Given the description of an element on the screen output the (x, y) to click on. 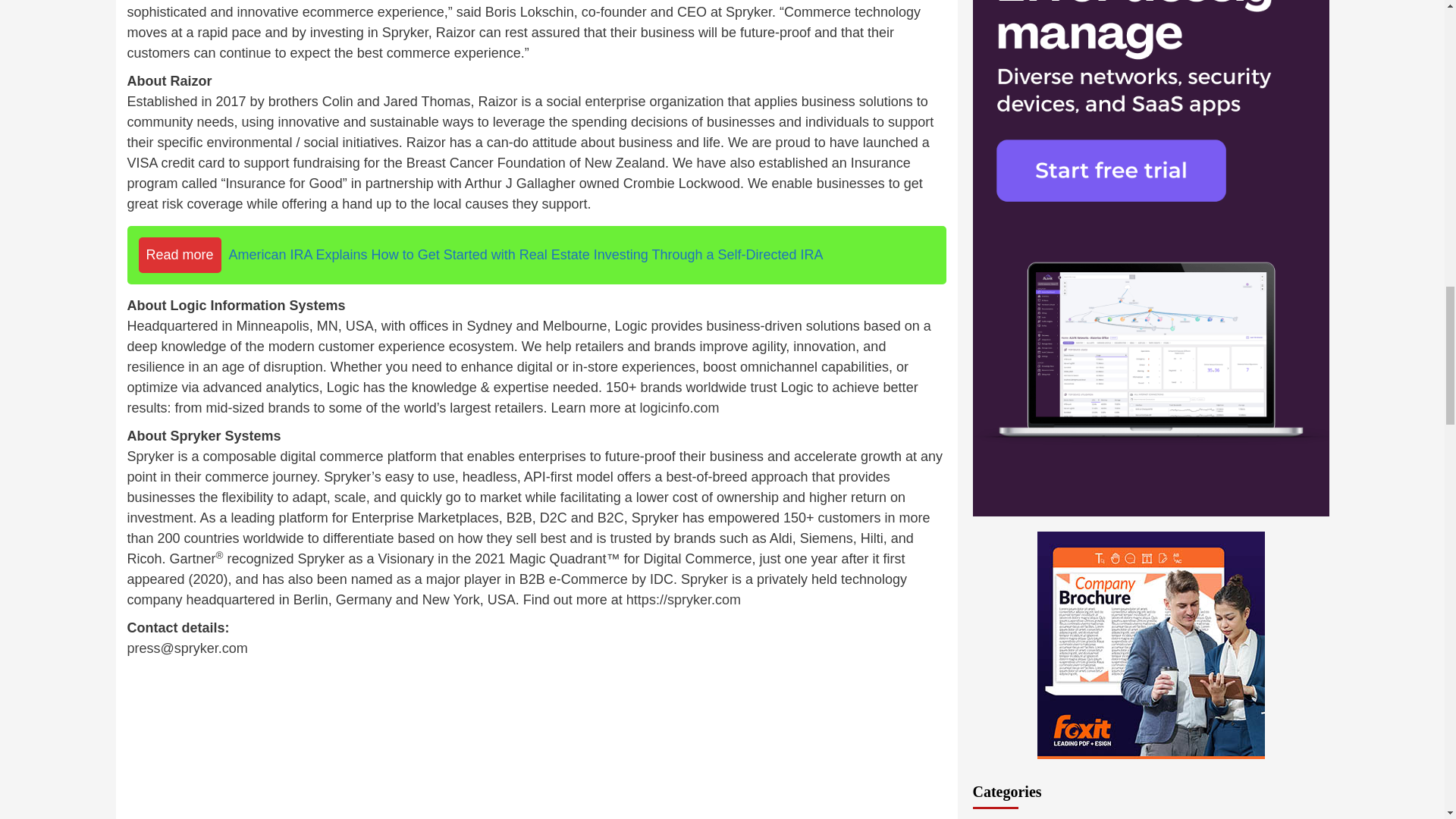
Search (1276, 206)
logicinfo.com (679, 407)
logicinfo.com (679, 407)
Search (1276, 206)
